Given the description of an element on the screen output the (x, y) to click on. 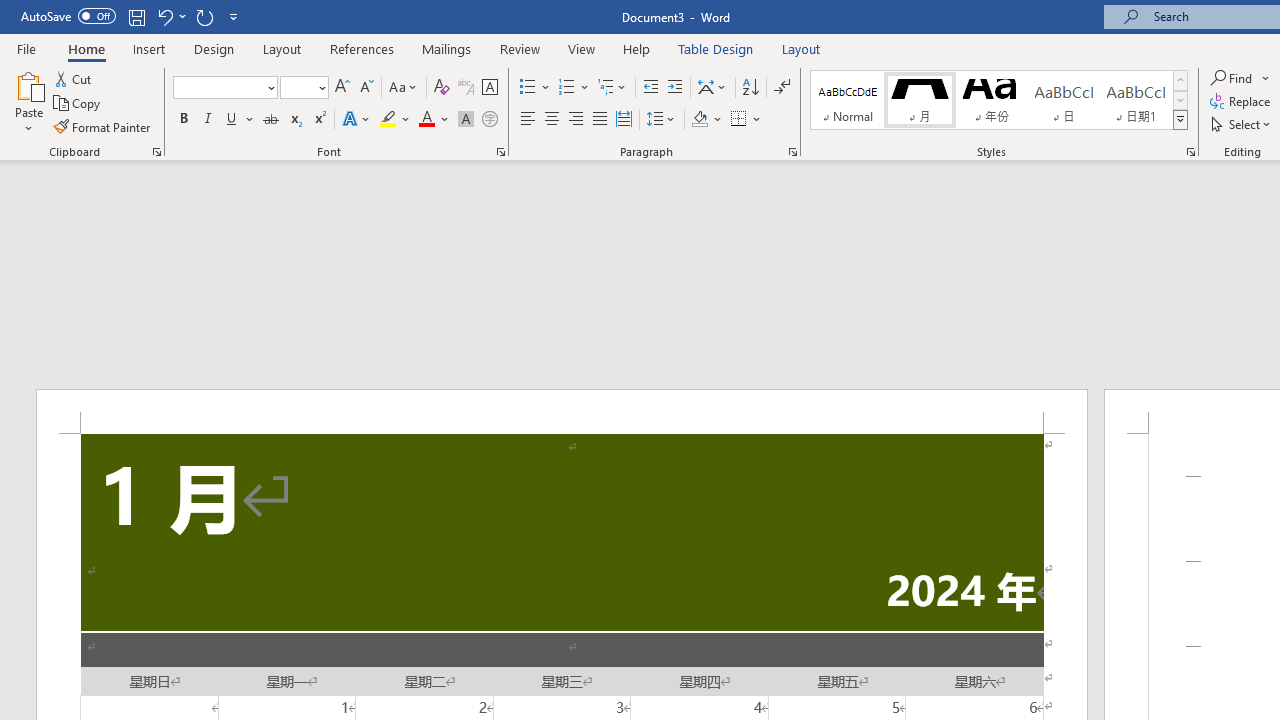
Undo Apply Quick Style (164, 15)
Undo Apply Quick Style (170, 15)
